Given the description of an element on the screen output the (x, y) to click on. 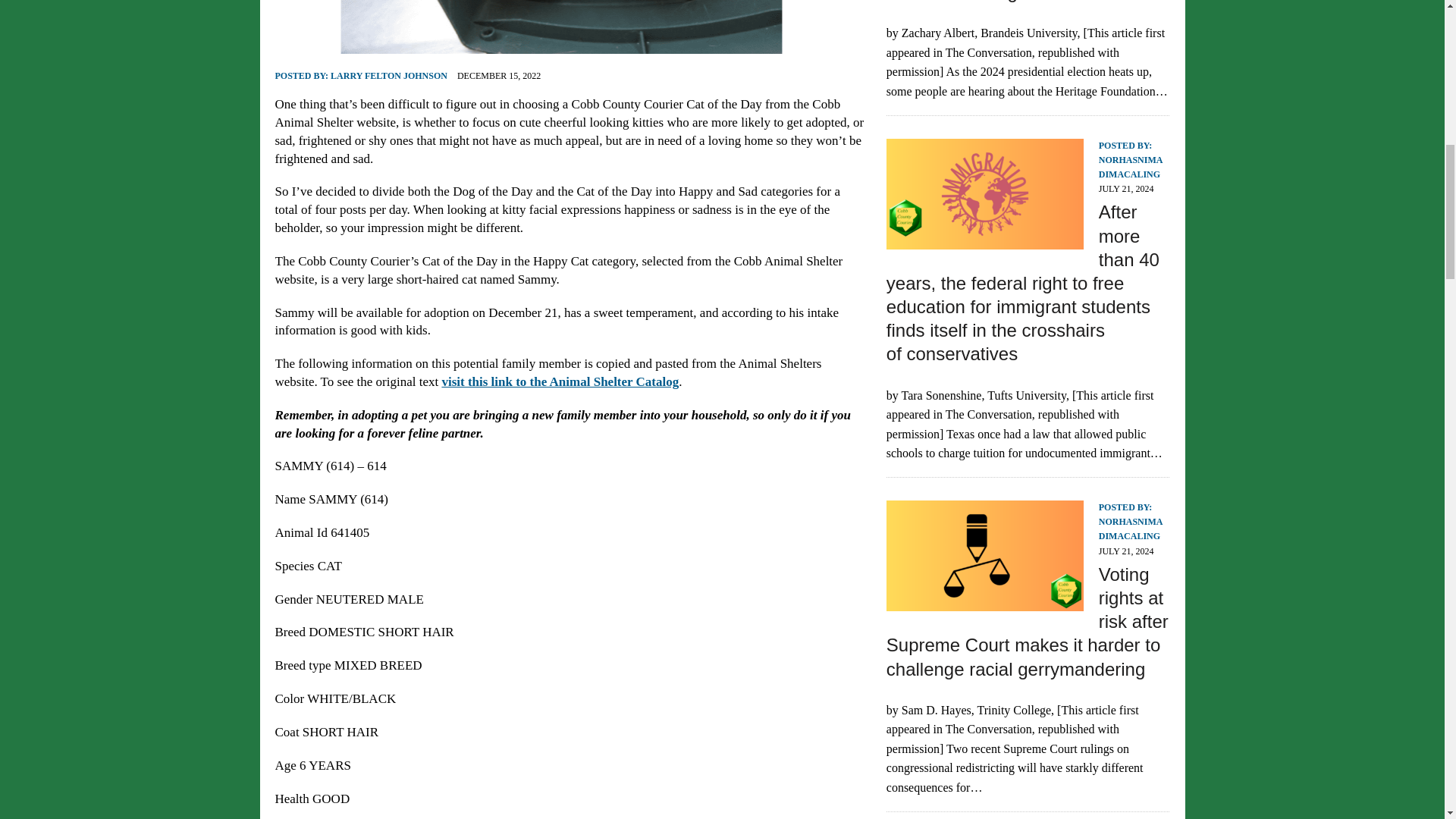
visit this link to the Animal Shelter Catalog (559, 381)
LARRY FELTON JOHNSON (388, 75)
